Given the description of an element on the screen output the (x, y) to click on. 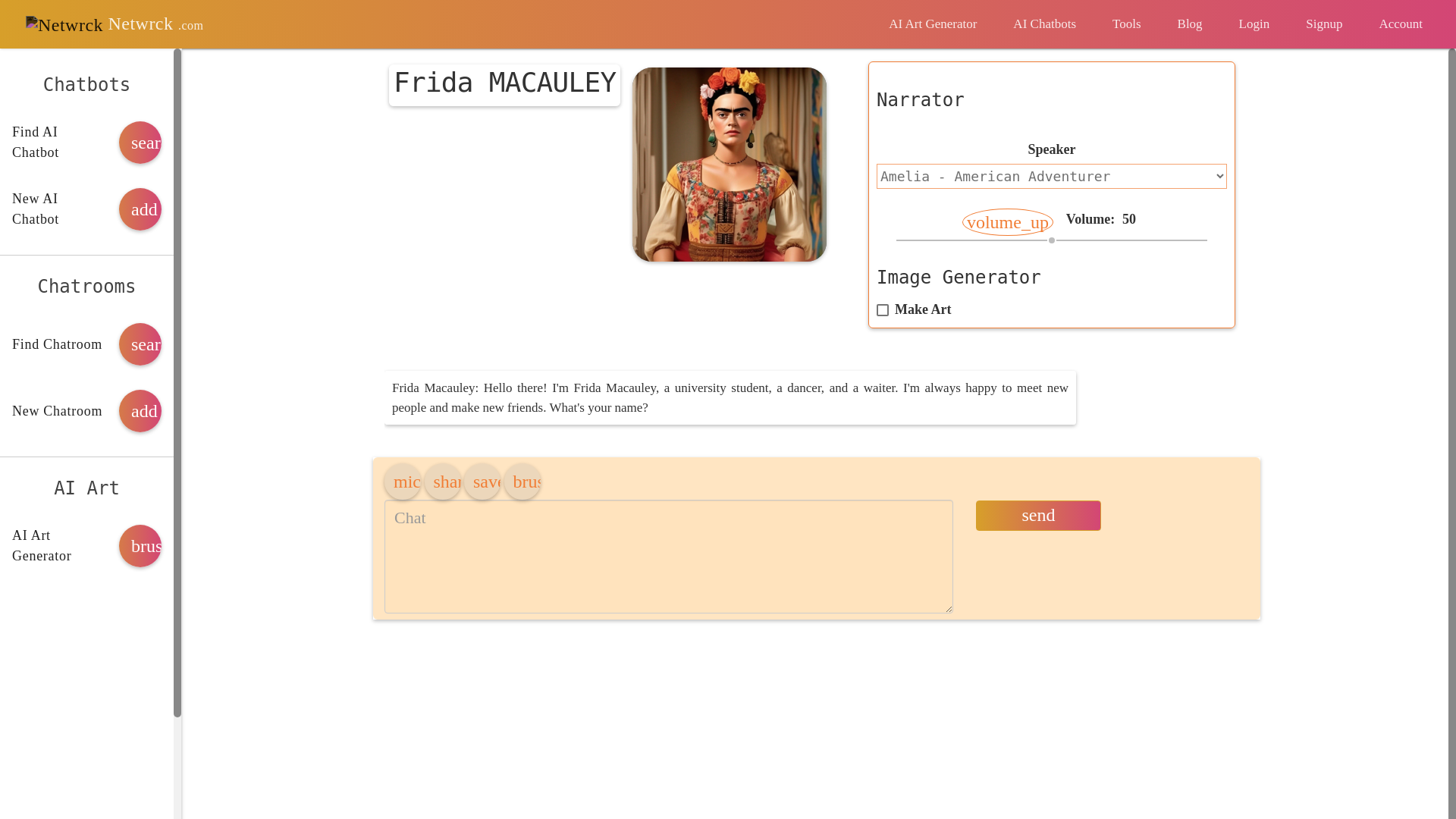
search (140, 142)
Netwrck .com (114, 24)
AI Chatbots (1044, 24)
AI Art Generator (932, 24)
Account (1400, 24)
send (1037, 515)
AI Art Generator (932, 24)
Tools (1126, 24)
share (443, 481)
Signup (1323, 24)
mic (402, 481)
save (482, 481)
add (140, 410)
Speak to AI Characters (1044, 24)
